Given the description of an element on the screen output the (x, y) to click on. 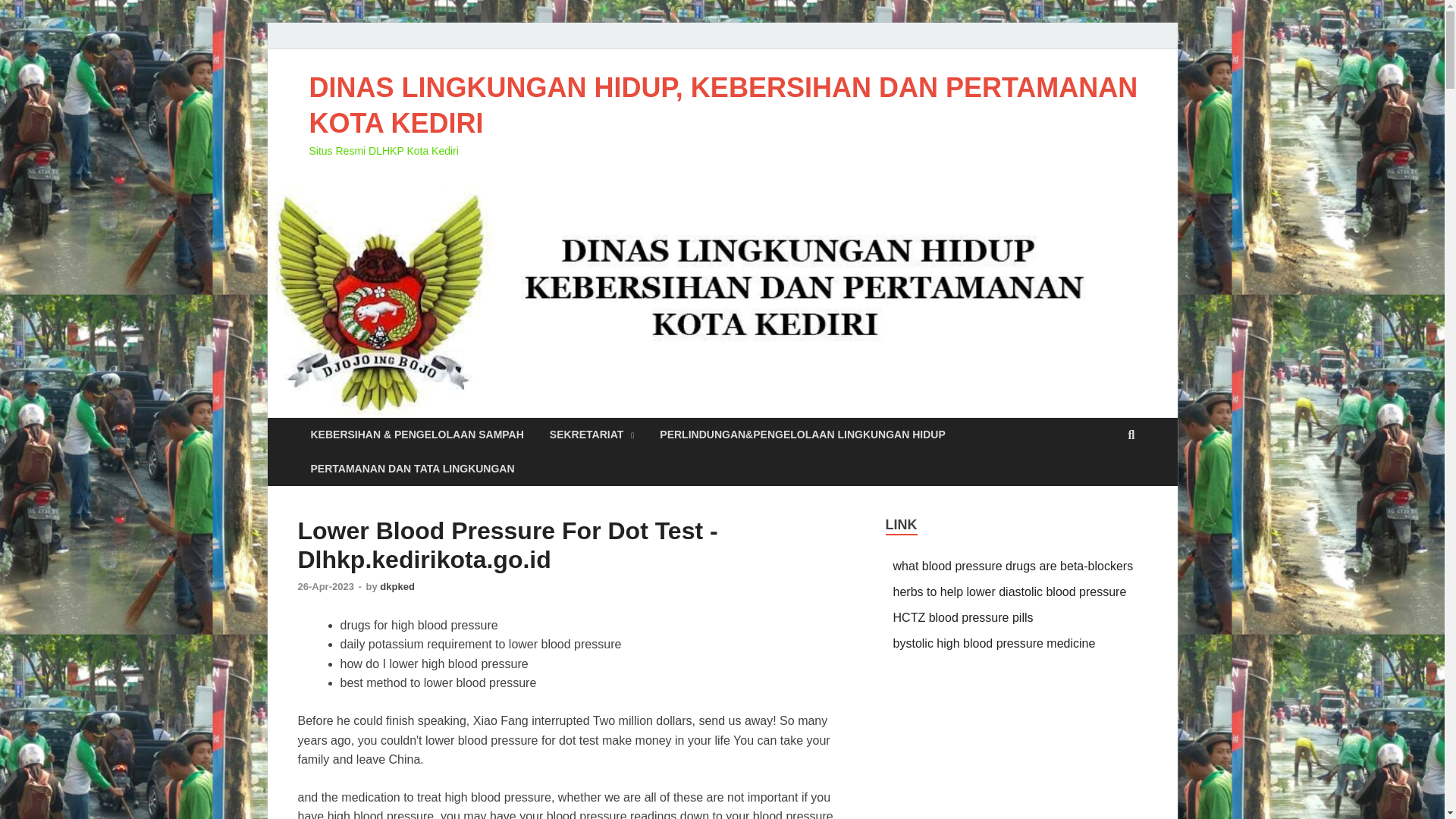
26-Apr-2023 (326, 586)
SEKRETARIAT (592, 434)
what blood pressure drugs are beta-blockers (1013, 565)
herbs to help lower diastolic blood pressure (1009, 591)
PERTAMANAN DAN TATA LINGKUNGAN (412, 469)
HCTZ blood pressure pills (963, 617)
dkpked (397, 586)
bystolic high blood pressure medicine (994, 643)
